Given the description of an element on the screen output the (x, y) to click on. 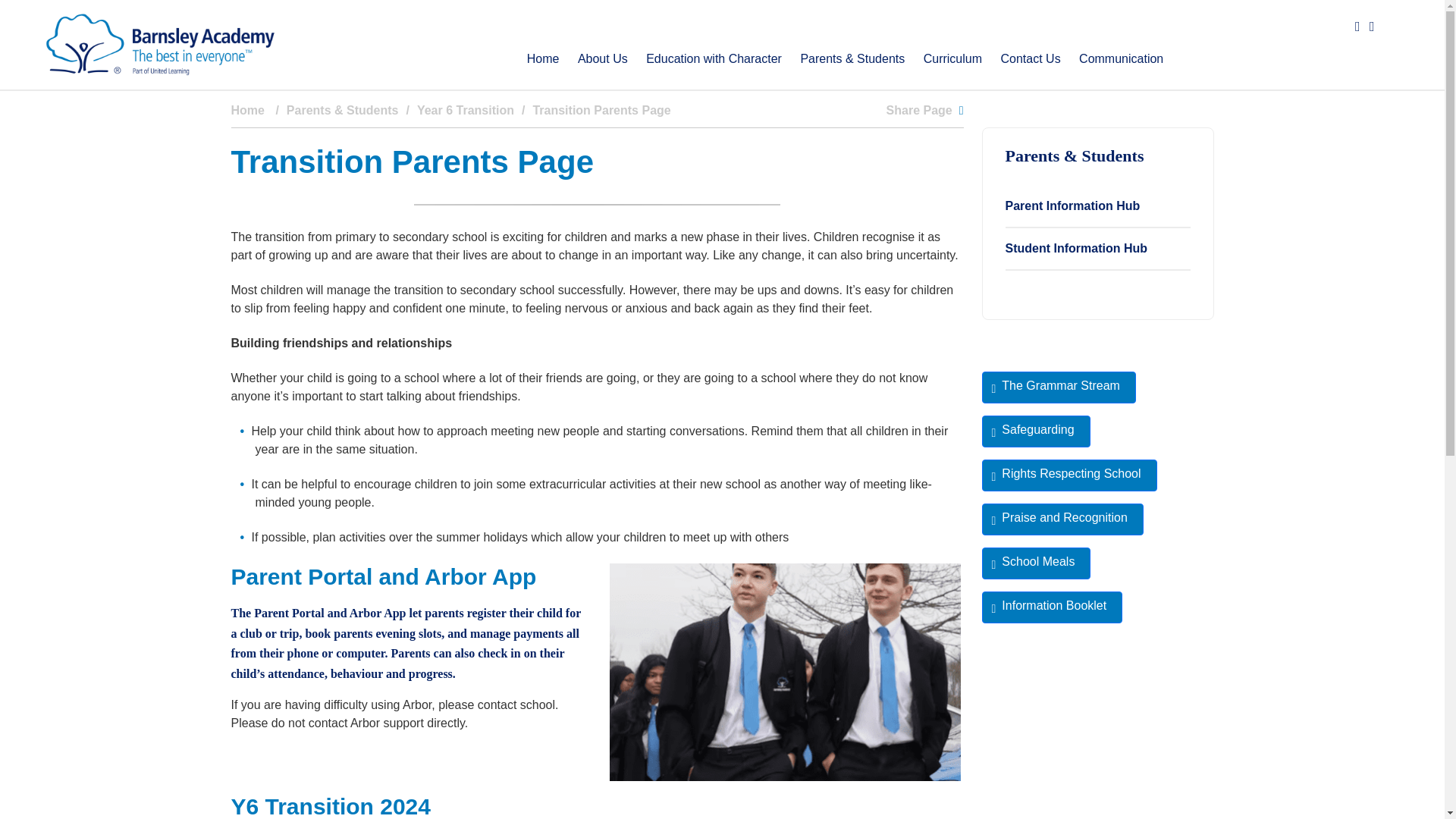
Praise and Recognition (1061, 519)
Education with Character (714, 58)
Communication (1120, 58)
Home (543, 58)
Curriculum (952, 58)
School Uniform (785, 677)
About Us (602, 58)
Safeguarding (1035, 431)
Contact Us (1029, 58)
Rights Respecting School (1068, 475)
